Given the description of an element on the screen output the (x, y) to click on. 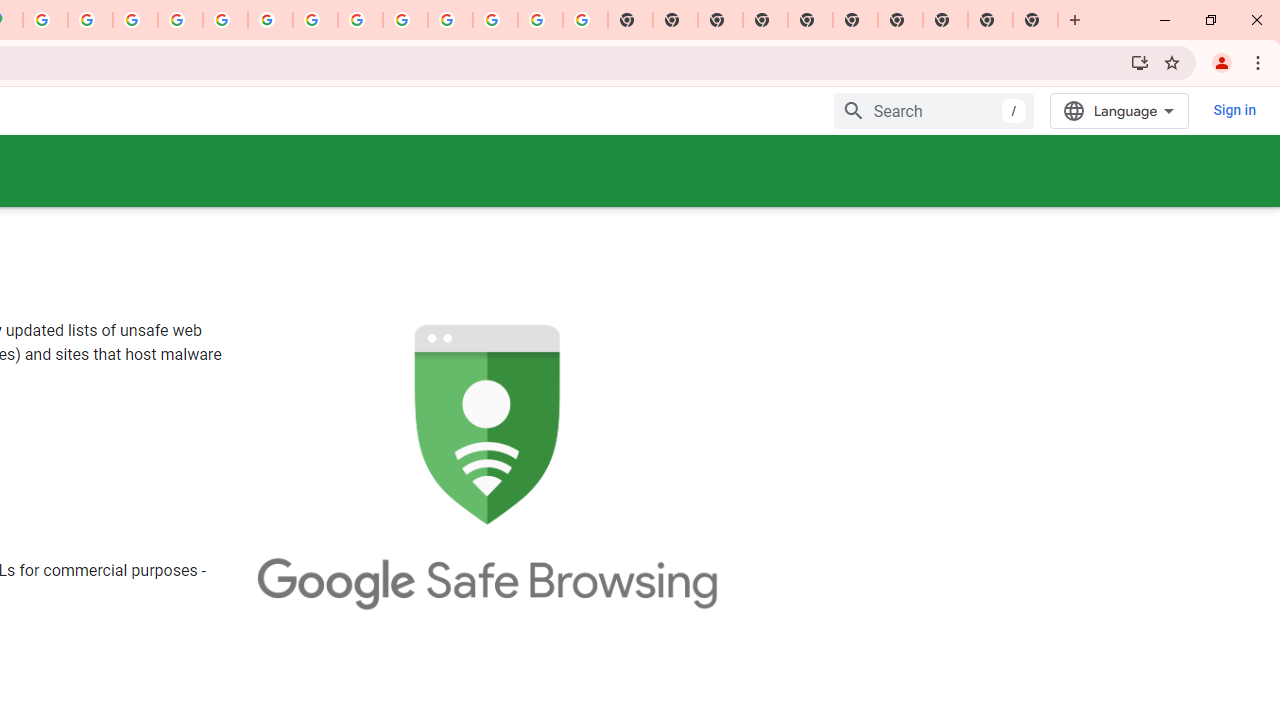
Install Google Developers (1139, 62)
YouTube (315, 20)
Privacy Help Center - Policies Help (134, 20)
New Tab (1035, 20)
Language (1119, 110)
